Given the description of an element on the screen output the (x, y) to click on. 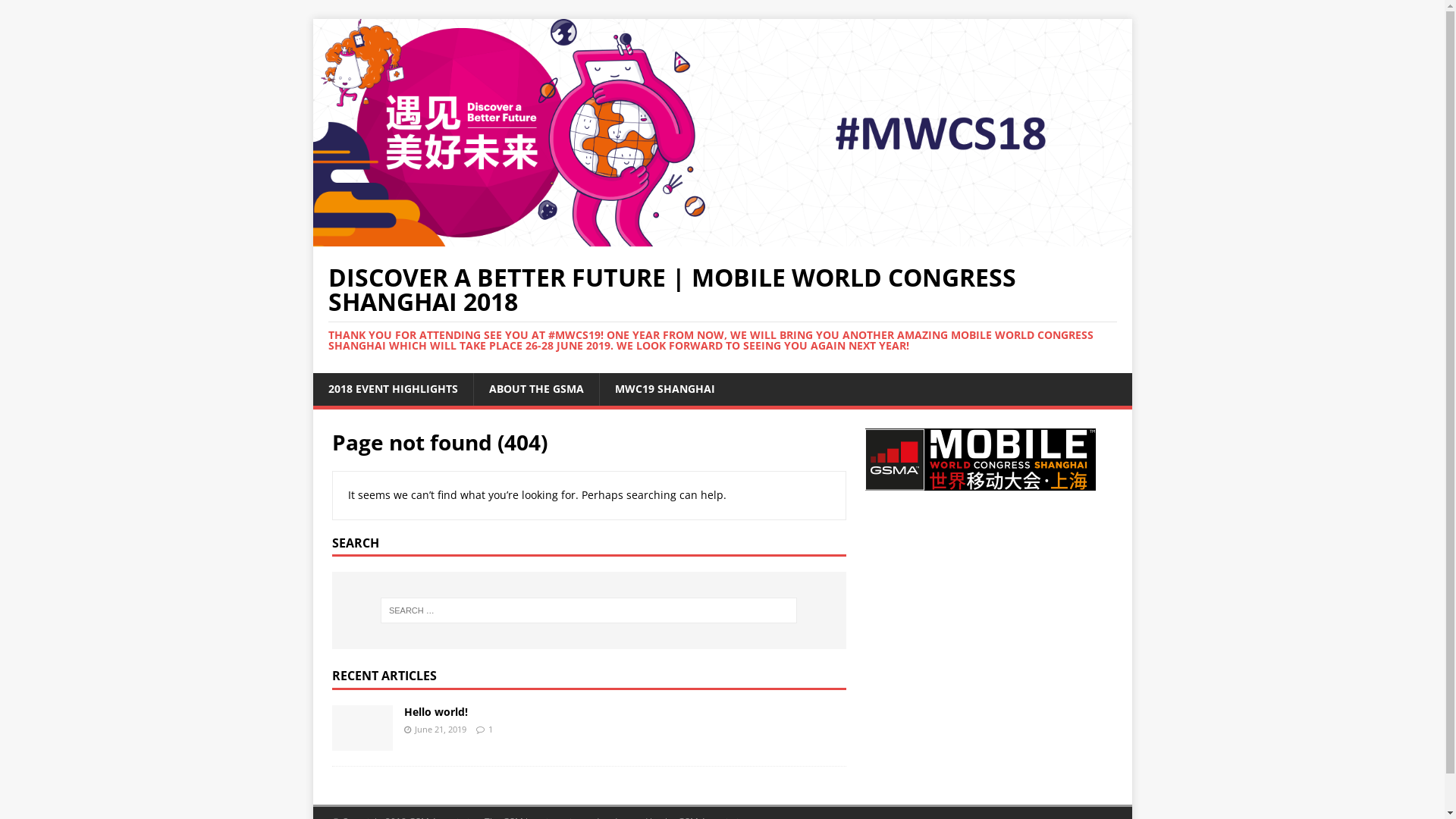
MWC19 SHANGHAI Element type: text (664, 388)
Search Element type: text (56, 11)
Hello world! Element type: text (435, 711)
ABOUT THE GSMA Element type: text (536, 388)
2018 EVENT HIGHLIGHTS Element type: text (392, 388)
1 Element type: text (490, 728)
Hello world! Element type: hover (362, 741)
